Given the description of an element on the screen output the (x, y) to click on. 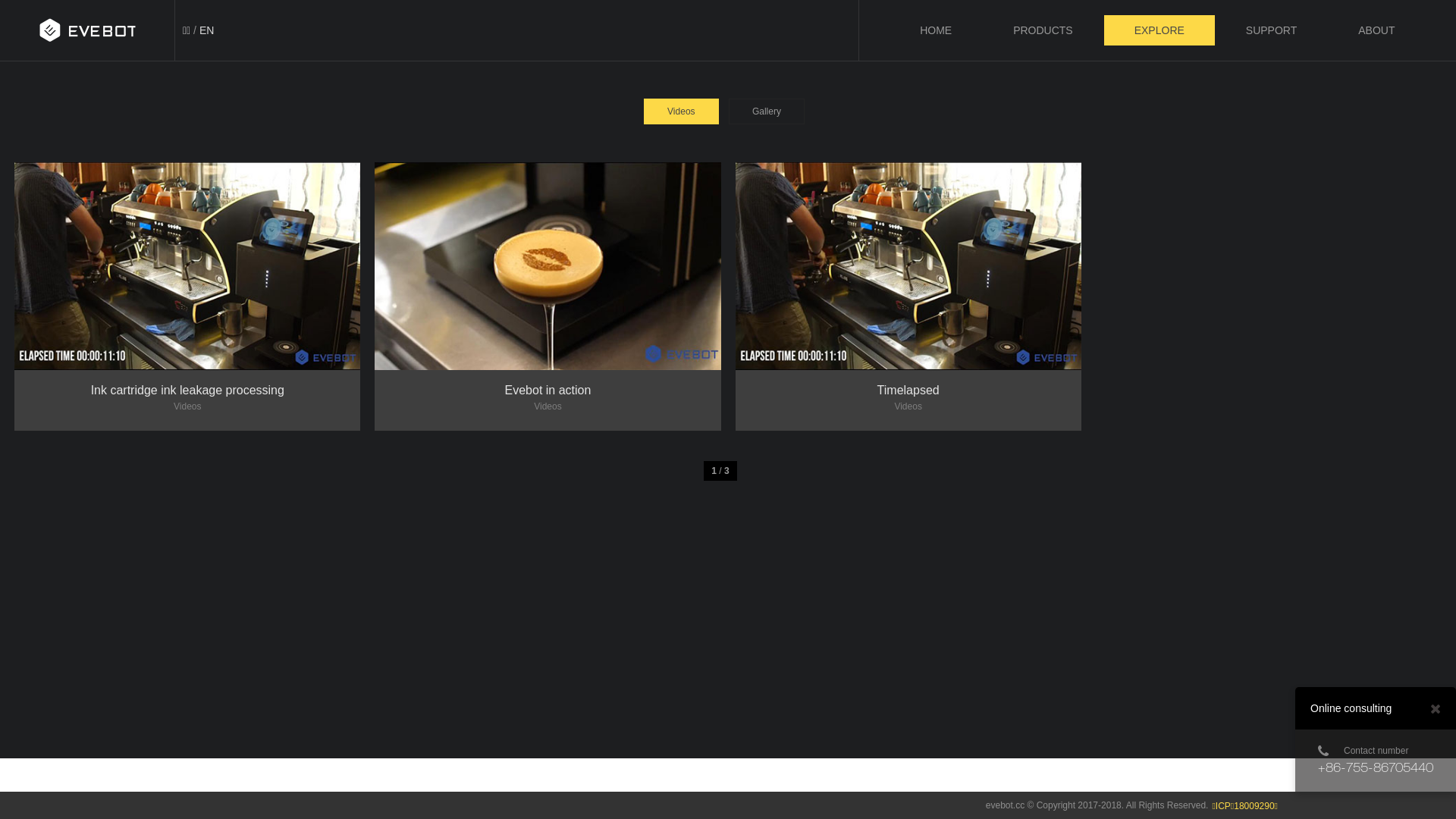
PRODUCTS Element type: text (1042, 30)
HOME Element type: text (935, 30)
Ink cartridge ink leakage processing
Videos Element type: text (187, 266)
EN Element type: text (206, 30)
ABOUT Element type: text (1375, 30)
Videos Element type: text (680, 111)
EXPLORE Element type: text (1159, 30)
SUPPORT Element type: text (1271, 30)
Evebot in action
Videos Element type: text (547, 266)
Timelapsed
Videos Element type: text (908, 266)
Gallery Element type: text (766, 111)
